Given the description of an element on the screen output the (x, y) to click on. 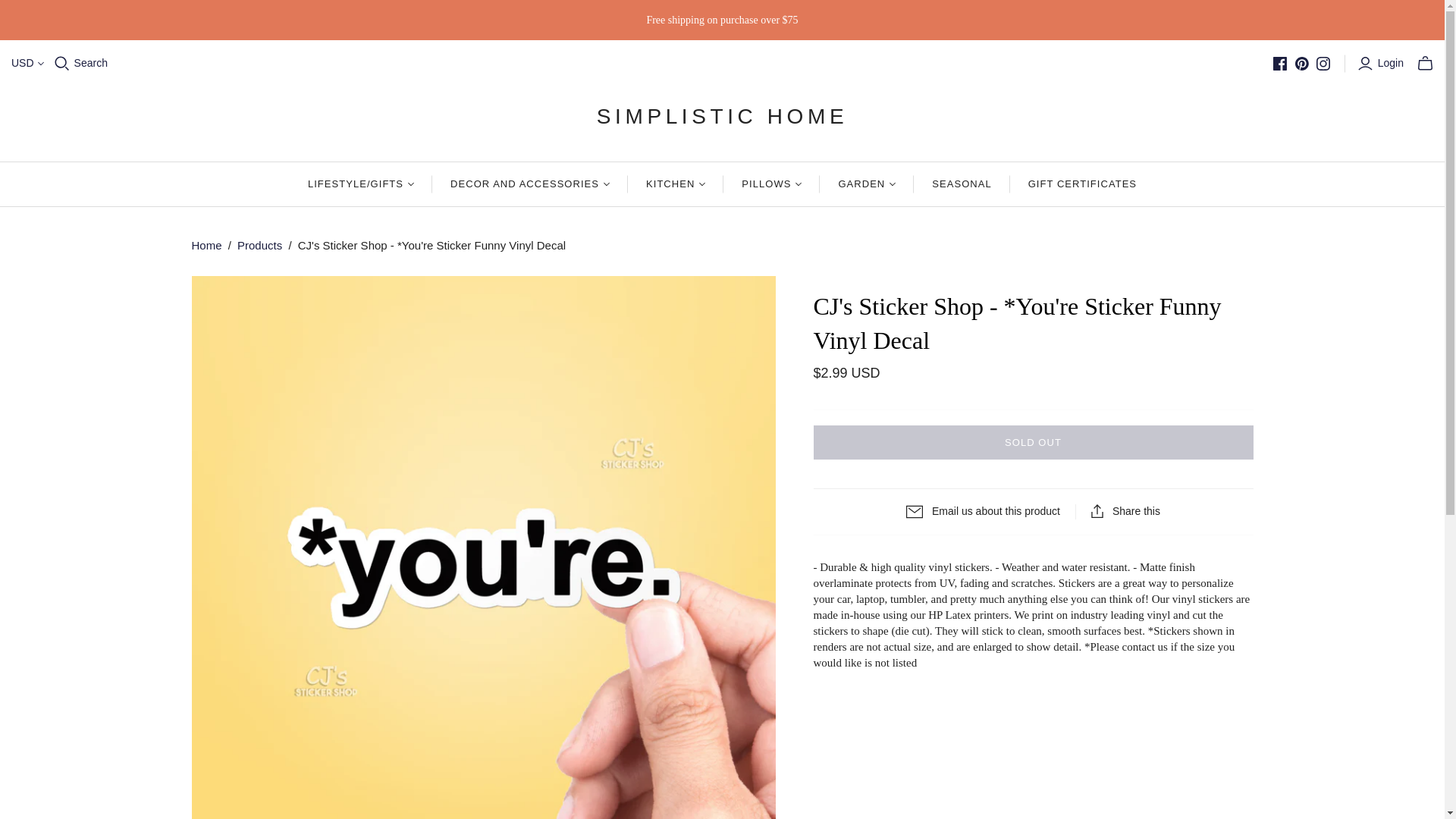
KITCHEN (675, 184)
DECOR AND ACCESSORIES (529, 184)
PILLOWS (771, 184)
SIMPLISTIC HOME (721, 116)
Login (1381, 63)
